Given the description of an element on the screen output the (x, y) to click on. 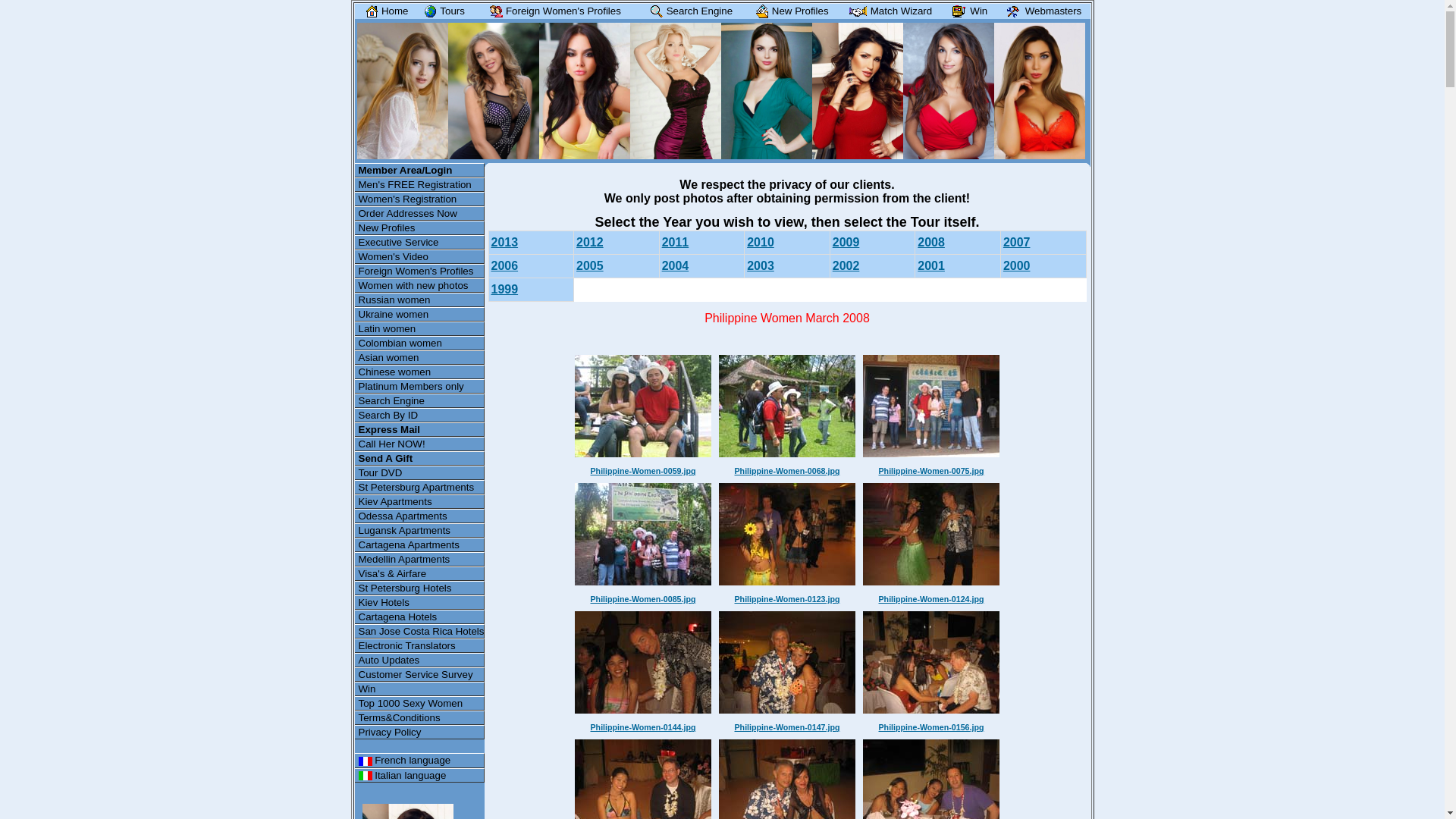
Russian women Element type: text (419, 299)
Customer Service Survey Element type: text (419, 674)
Women's Video Element type: text (419, 256)
Chinese women Element type: text (419, 371)
 Home Element type: text (383, 10)
Philippine-Women-0124.jpg Element type: text (931, 598)
Terms&Conditions Element type: text (419, 717)
2007 Element type: text (1016, 241)
Electronic Translators Element type: text (419, 645)
St Petersburg Hotels Element type: text (419, 587)
Foreign Women's Profiles Element type: text (419, 270)
Win Element type: text (419, 688)
2003 Element type: text (760, 265)
2011 Element type: text (675, 241)
2006 Element type: text (504, 265)
Asian women Element type: text (419, 357)
Cartagena Hotels Element type: text (419, 616)
Platinum Members only Element type: text (419, 386)
Medellin Apartments Element type: text (419, 559)
2013 Element type: text (504, 241)
Philippine-Women-0059.jpg Element type: text (643, 470)
Philippine-Women-0123.jpg Element type: text (787, 598)
Philippine-Women-0147.jpg Element type: text (787, 726)
Philippine-Women-0144.jpg Element type: text (643, 726)
 French language Element type: text (419, 760)
Philippine-Women-0075.jpg Element type: text (931, 470)
2009 Element type: text (845, 241)
Tour DVD Element type: text (419, 472)
  Webmasters Element type: text (1040, 10)
Search Engine Element type: text (419, 400)
Member Area/Login Element type: text (419, 170)
  Win Element type: text (966, 10)
 Italian language Element type: text (419, 775)
 New Profiles Element type: text (788, 10)
Send A Gift Element type: text (419, 458)
St Petersburg Apartments Element type: text (419, 487)
2004 Element type: text (675, 265)
Philippine-Women-0068.jpg Element type: text (787, 470)
Lugansk Apartments Element type: text (419, 530)
 Search Engine Element type: text (688, 10)
 Tours Element type: text (441, 10)
  Match Wizard Element type: text (888, 10)
Philippine-Women-0085.jpg Element type: text (643, 598)
Odessa Apartments Element type: text (419, 515)
Kiev Hotels Element type: text (419, 602)
New Profiles Element type: text (419, 227)
Search By ID Element type: text (419, 414)
2010 Element type: text (760, 241)
Auto Updates Element type: text (419, 659)
Privacy Policy Element type: text (419, 731)
San Jose Costa Rica Hotels Element type: text (419, 631)
Colombian women Element type: text (419, 342)
Call Her NOW! Element type: text (419, 443)
Ukraine women Element type: text (419, 314)
Women with new photos Element type: text (419, 285)
2002 Element type: text (845, 265)
Visa's & Airfare Element type: text (419, 573)
Executive Service Element type: text (419, 242)
Women's Registration Element type: text (419, 198)
2000 Element type: text (1016, 265)
Order Addresses Now Element type: text (419, 213)
1999 Element type: text (504, 288)
2012 Element type: text (589, 241)
Top 1000 Sexy Women Element type: text (419, 703)
 Foreign Women's Profiles Element type: text (552, 10)
Express Mail Element type: text (419, 429)
Kiev Apartments Element type: text (419, 501)
Philippine-Women-0156.jpg Element type: text (931, 726)
Latin women Element type: text (419, 328)
2001 Element type: text (930, 265)
Cartagena Apartments Element type: text (419, 544)
Men's FREE Registration Element type: text (419, 184)
2008 Element type: text (930, 241)
2005 Element type: text (589, 265)
